Given the description of an element on the screen output the (x, y) to click on. 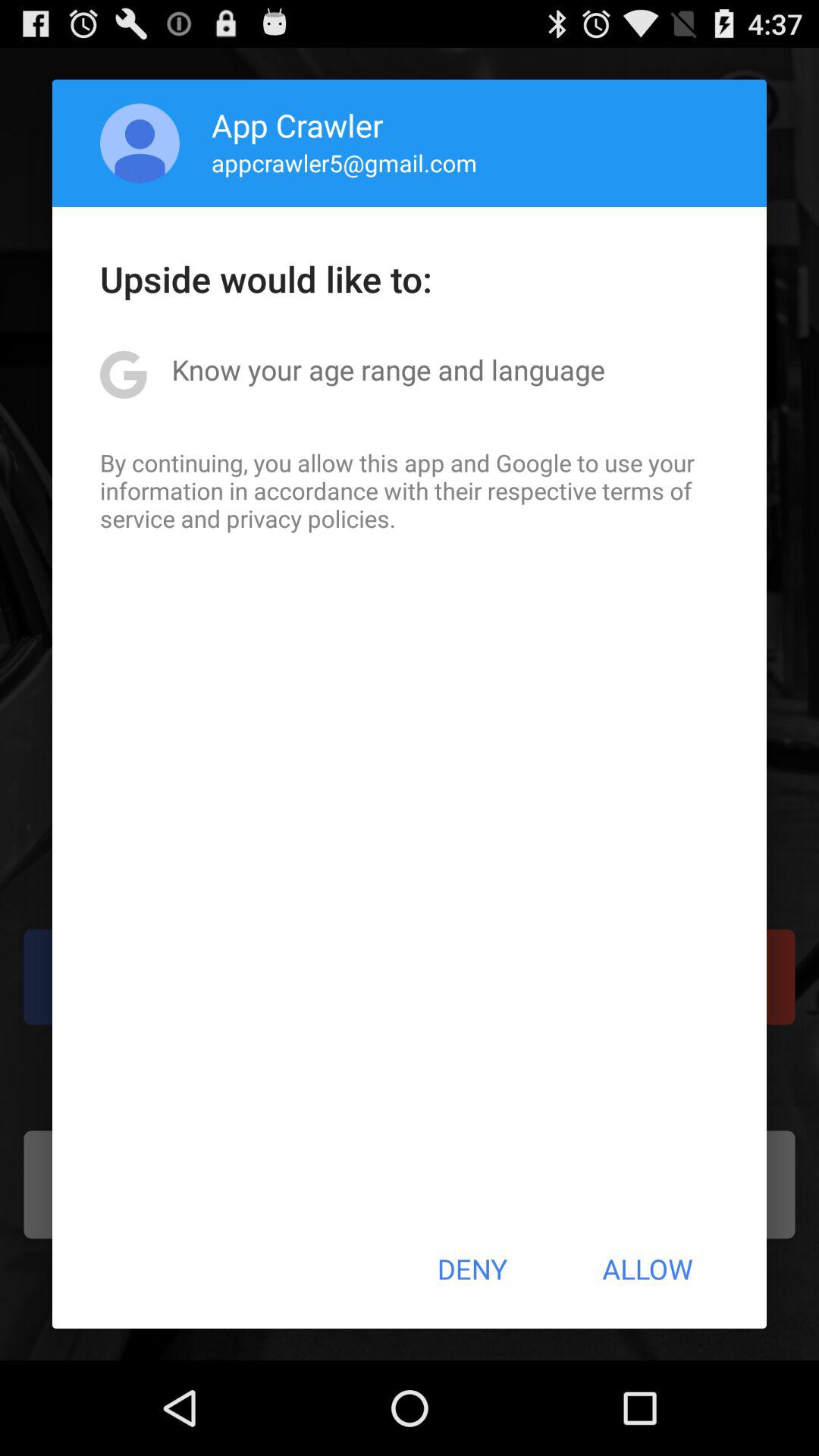
launch the app to the left of app crawler icon (139, 143)
